Given the description of an element on the screen output the (x, y) to click on. 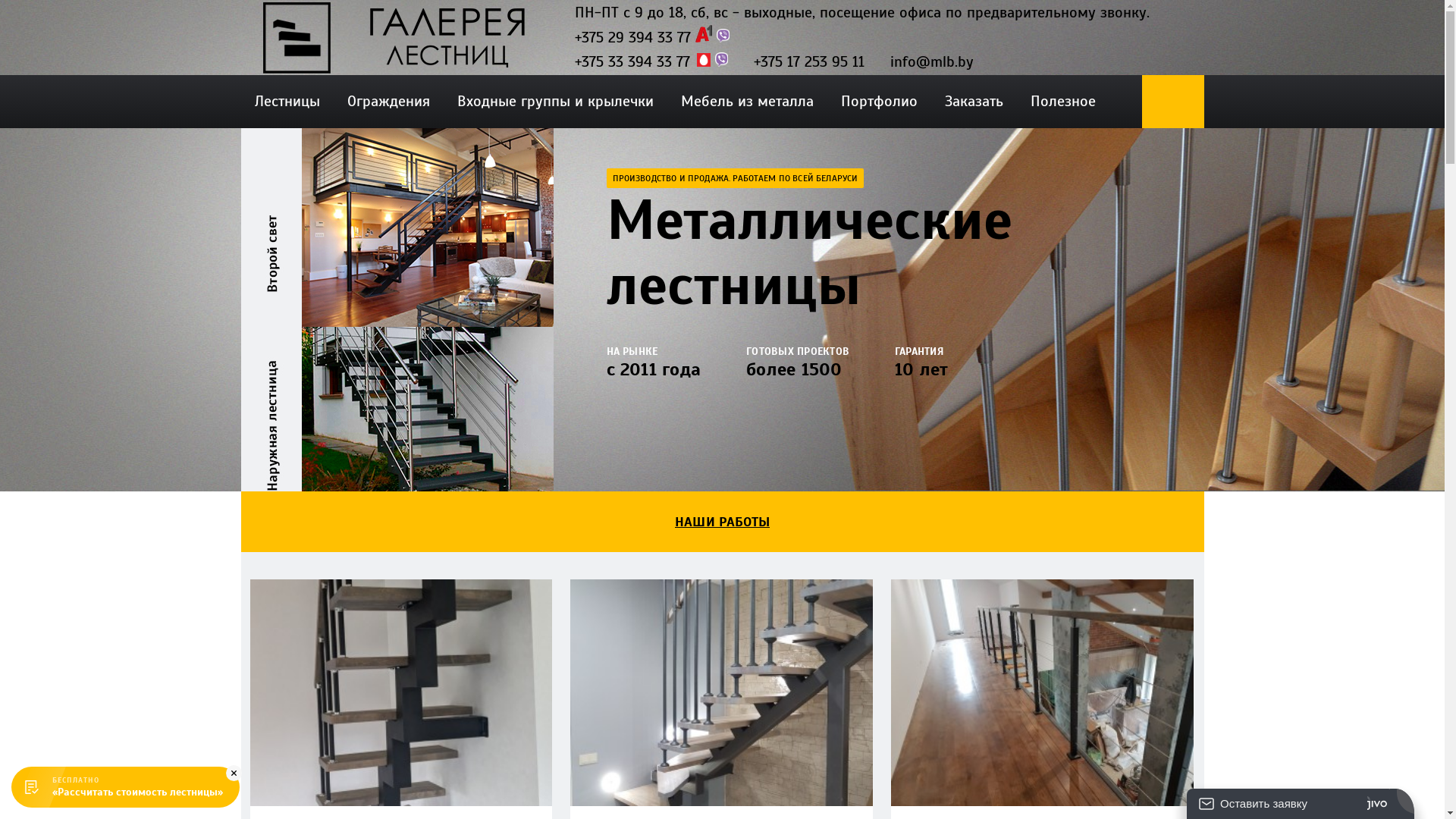
+375 33 394 33 77 Element type: text (632, 61)
mlb viber Element type: hover (720, 58)
+375 17 253 95 11 Element type: text (808, 61)
+375 29 394 33 77 Element type: text (632, 37)
info@mlb.by Element type: text (931, 61)
mlb velcom Element type: hover (702, 33)
mlb mts Element type: hover (702, 59)
mlb viber Element type: hover (721, 35)
